Given the description of an element on the screen output the (x, y) to click on. 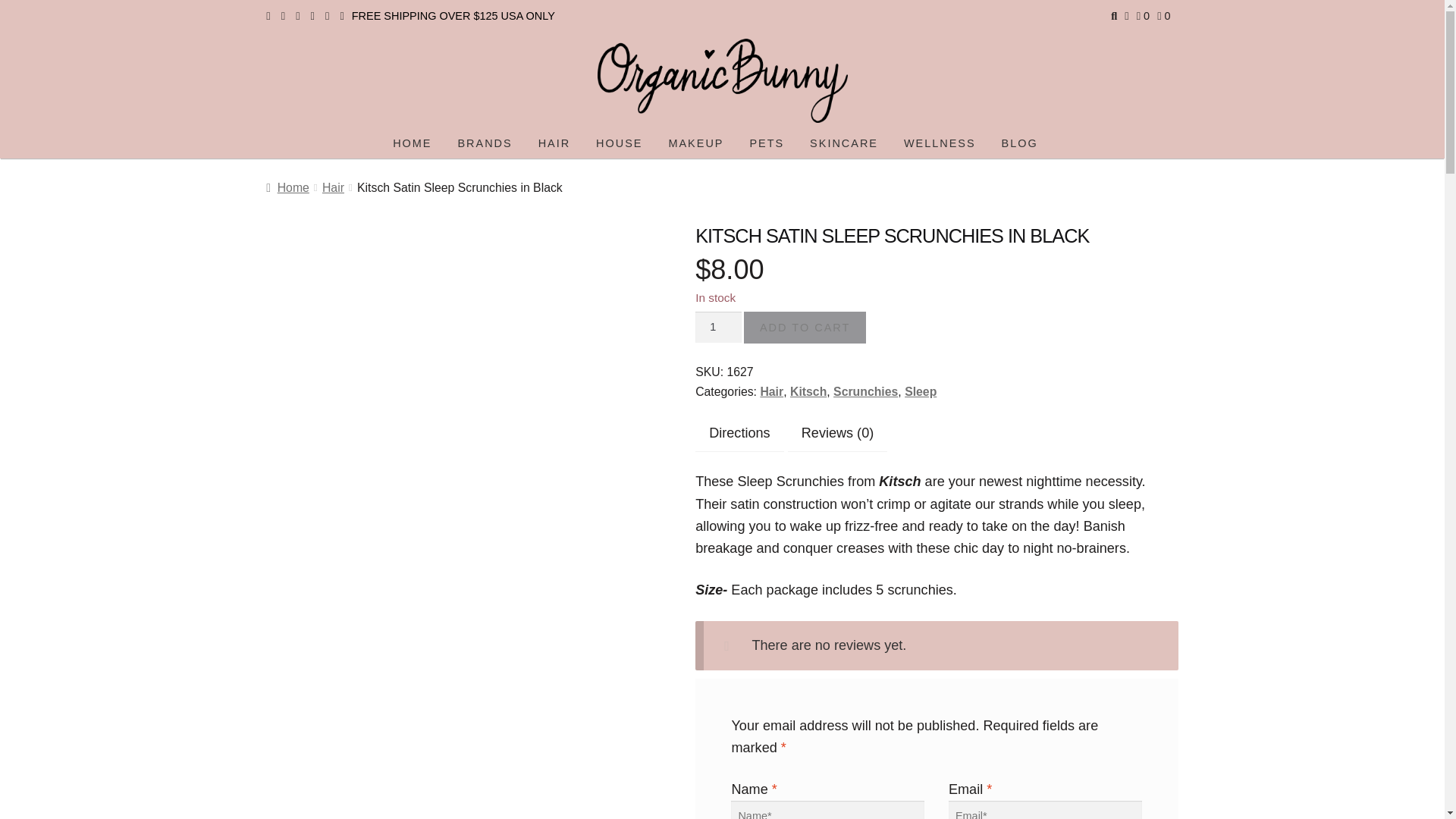
View your shopping cart (1163, 15)
HOME (411, 143)
0 (1163, 15)
BRANDS (484, 143)
1 (718, 327)
0 (1143, 15)
